Given the description of an element on the screen output the (x, y) to click on. 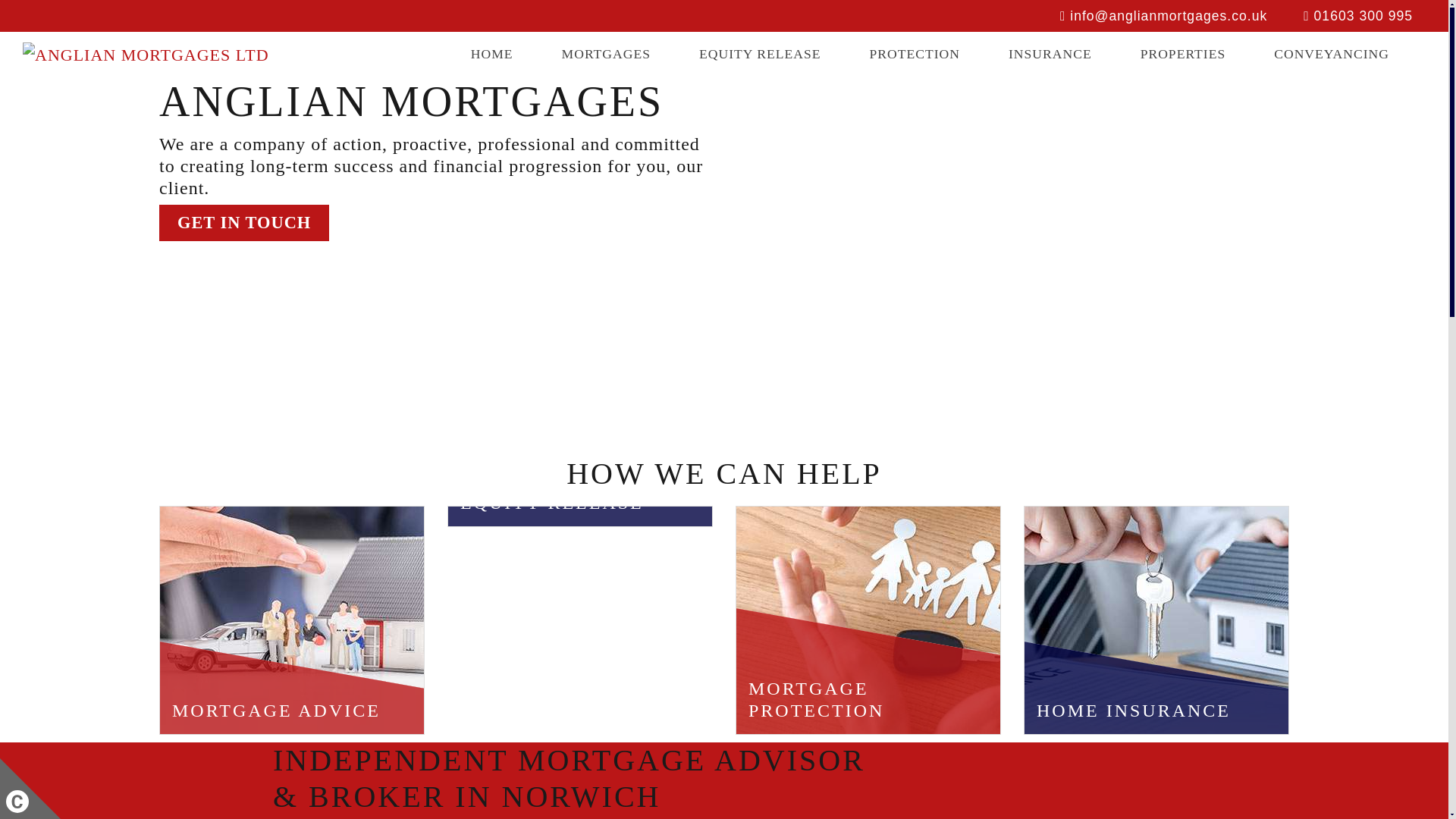
HOME (491, 53)
Link to Insurance (1049, 53)
PROTECTION (914, 53)
Link to Home (491, 53)
Link to Equity Release (759, 53)
CONVEYANCING (1331, 53)
PROPERTIES (1183, 53)
01603 300 995 (1357, 15)
Link to Mortgages (606, 53)
Link to Conveyancing (1331, 53)
